Given the description of an element on the screen output the (x, y) to click on. 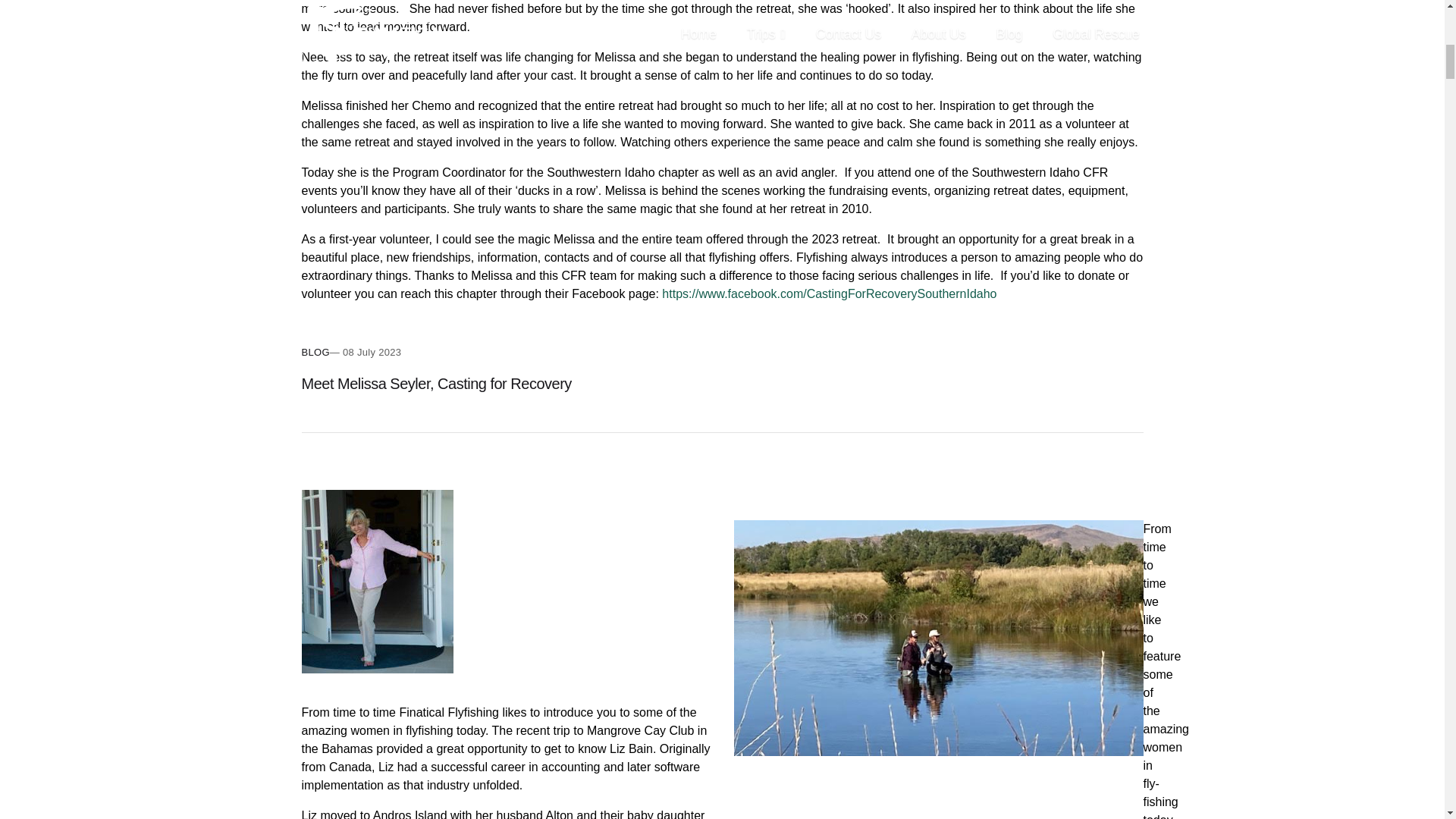
Meet Melissa Seyler, Casting for Recovery (436, 383)
Category: Blog (315, 352)
BLOG (315, 351)
Published: 08 July 2023 (365, 352)
